Given the description of an element on the screen output the (x, y) to click on. 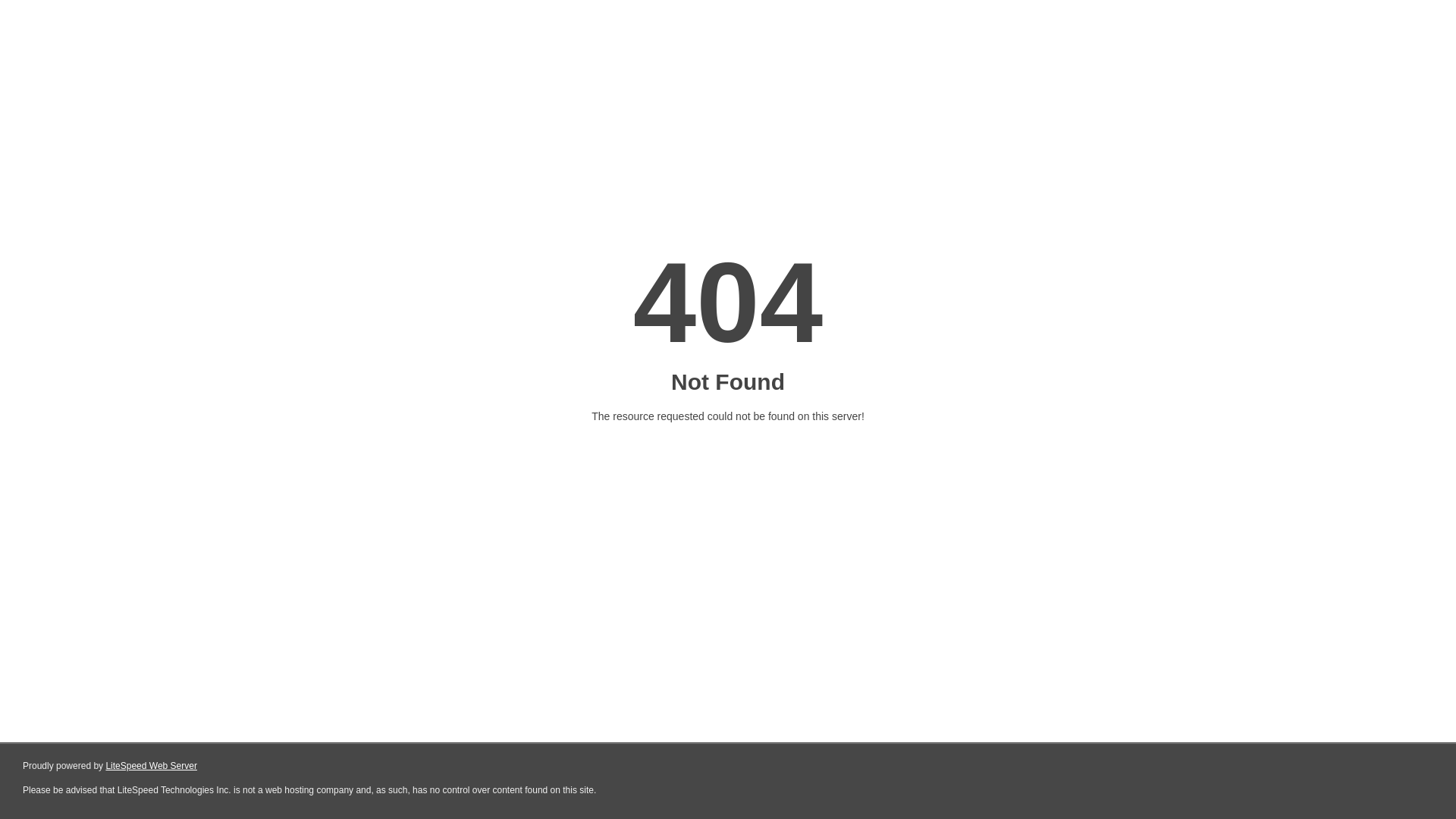
LiteSpeed Web Server Element type: text (151, 765)
